Given the description of an element on the screen output the (x, y) to click on. 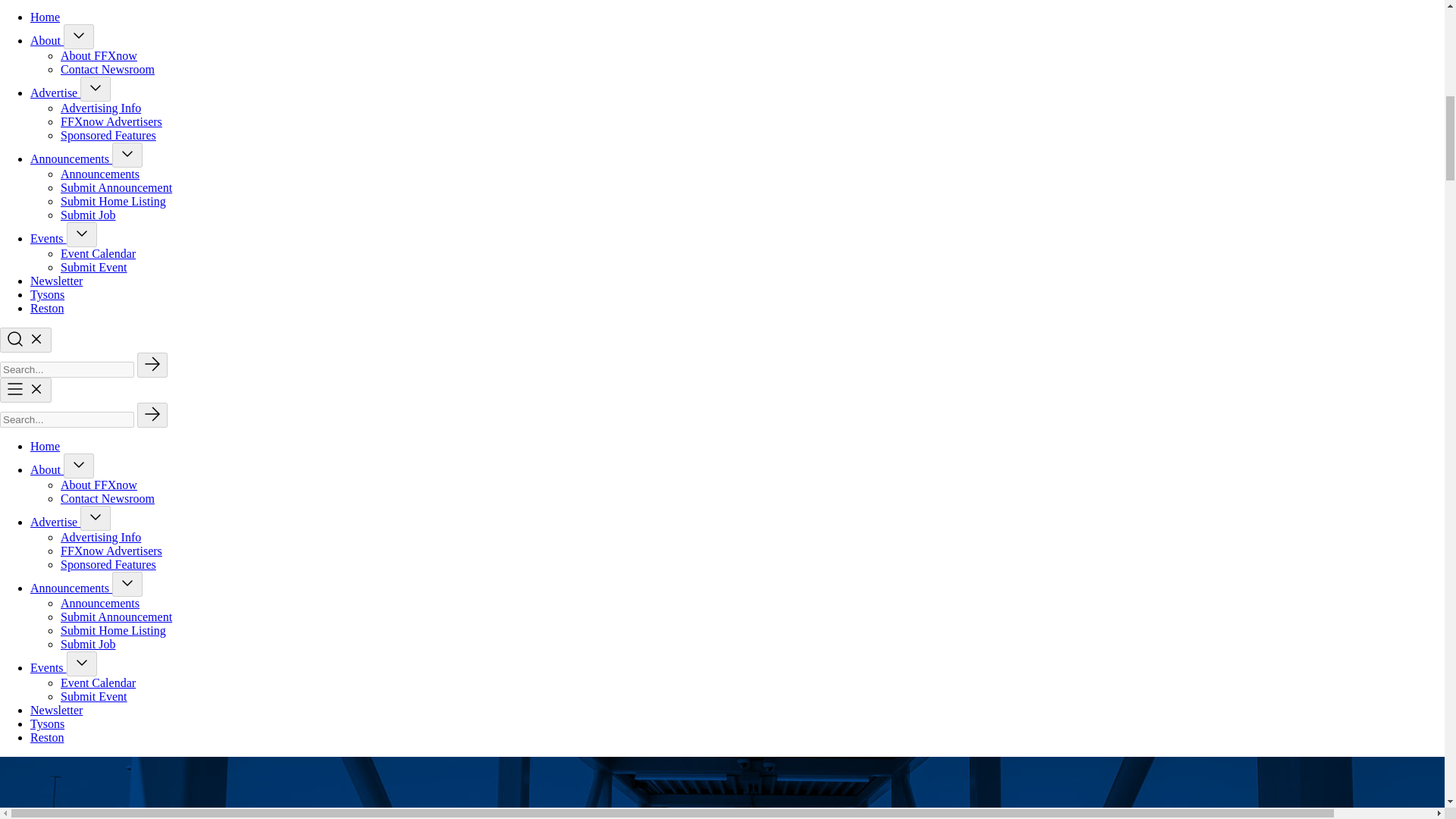
About FFXnow (98, 55)
Announcements (71, 158)
Advertise (55, 92)
Announcements (100, 173)
About (47, 40)
Home (44, 16)
FFXnow Advertisers (111, 121)
Advertising Info (101, 107)
Sponsored Features (108, 134)
Contact Newsroom (107, 69)
